Given the description of an element on the screen output the (x, y) to click on. 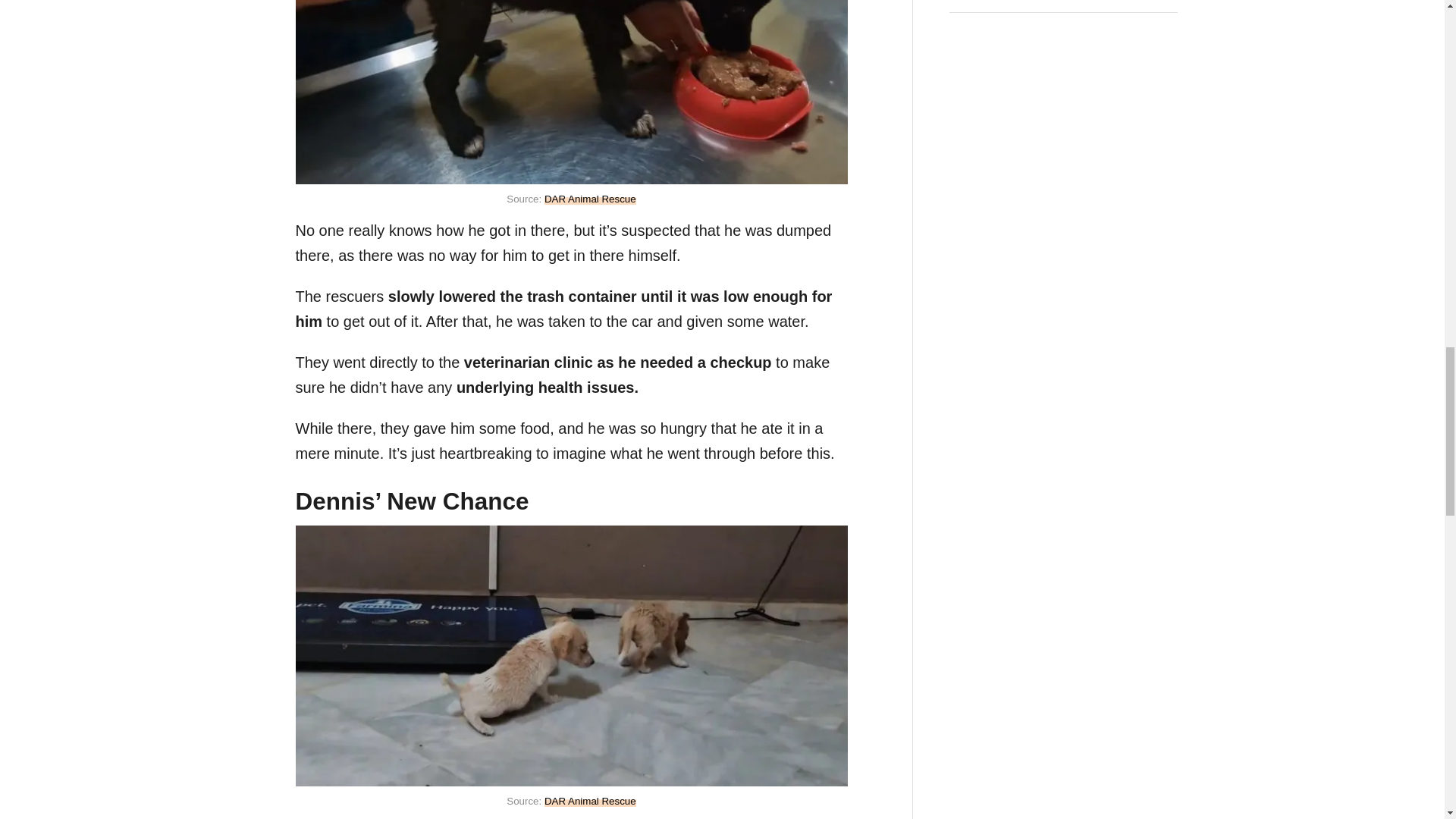
DAR Animal Rescue (590, 198)
DAR Animal Rescue (590, 800)
